Given the description of an element on the screen output the (x, y) to click on. 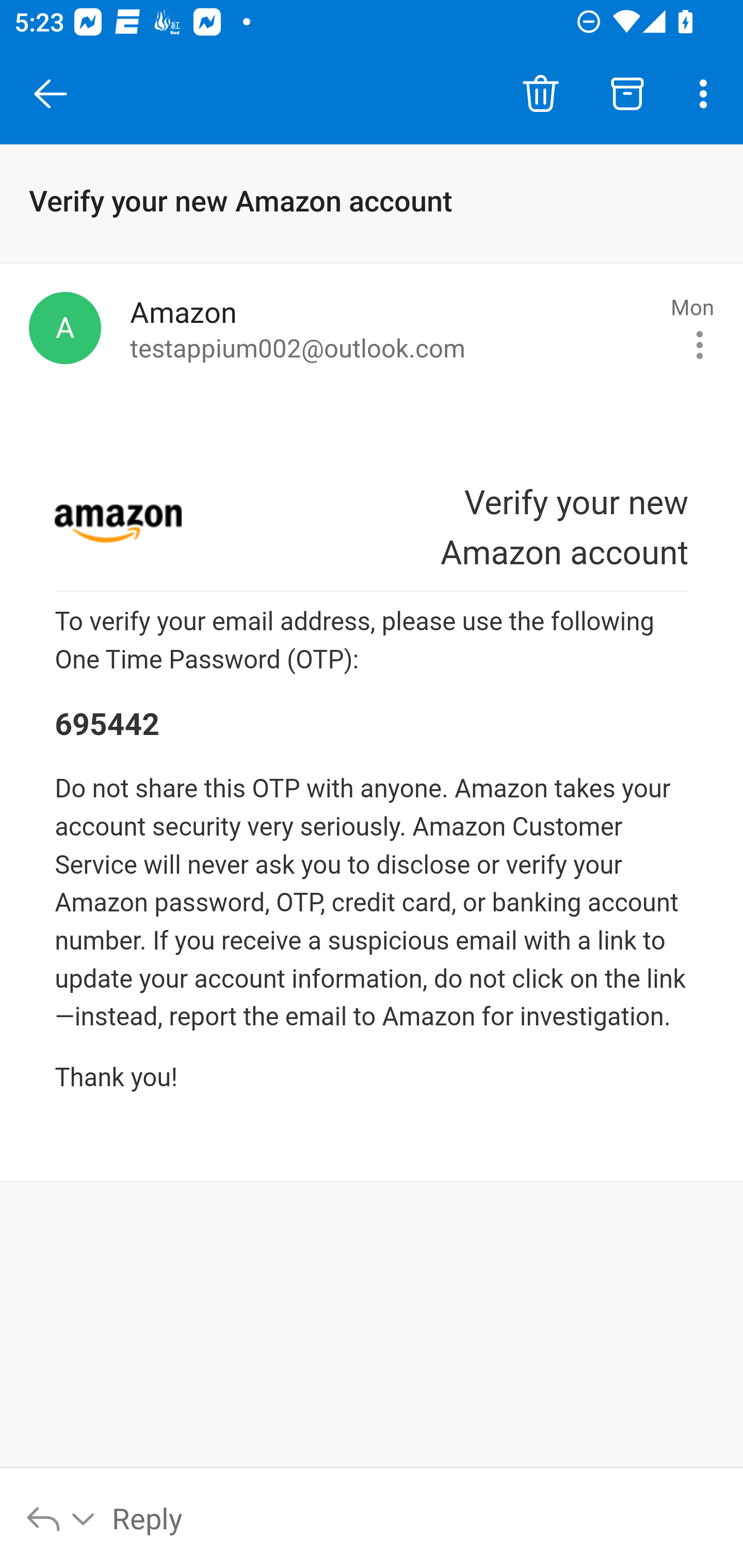
Close (50, 93)
Delete (540, 93)
Archive (626, 93)
More options (706, 93)
Amazon, account-update@amazon.com (64, 327)
Amazon
to testappium002@outlook.com (393, 328)
Message actions (699, 344)
Reply options (61, 1517)
